Given the description of an element on the screen output the (x, y) to click on. 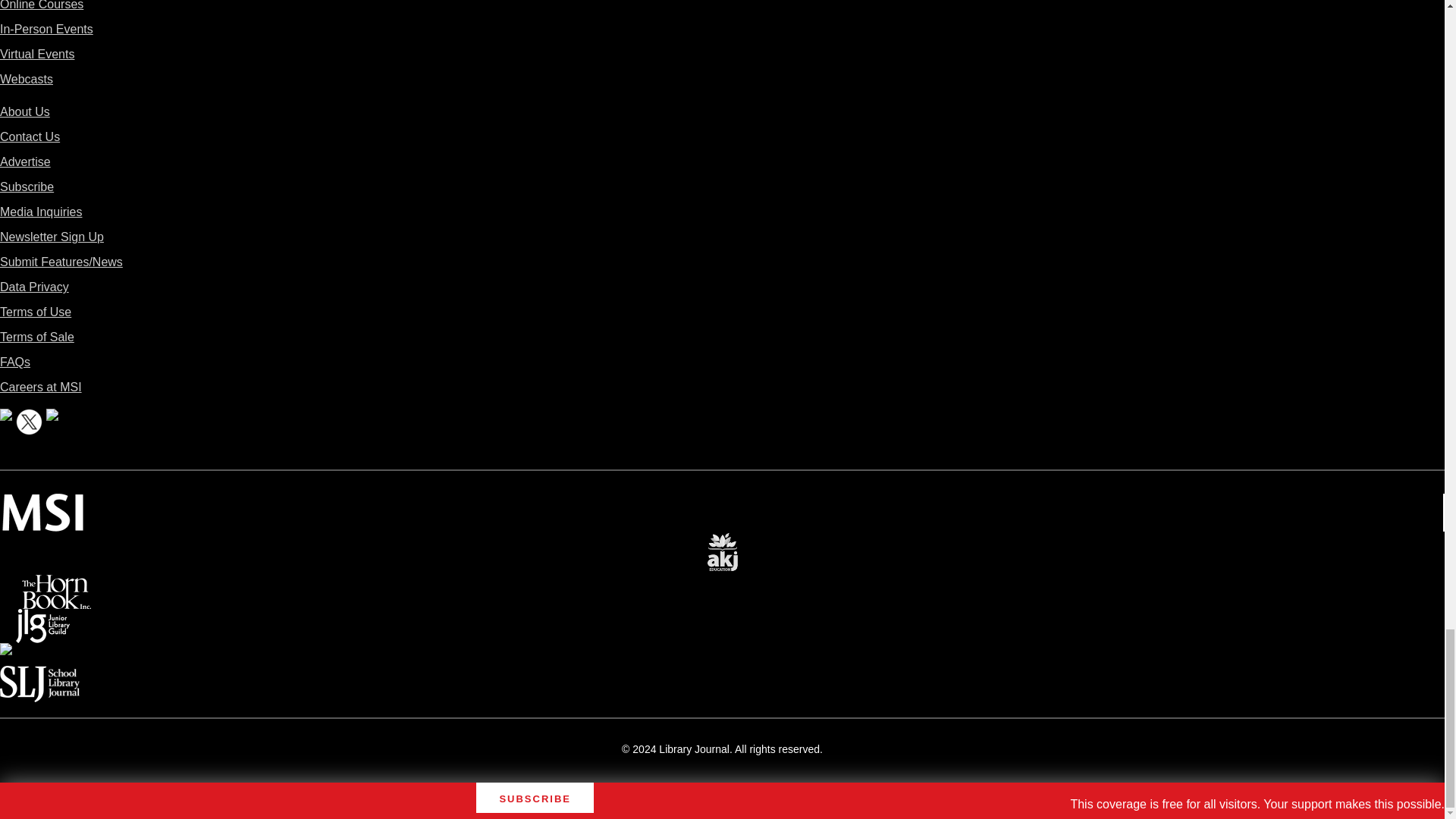
The Horn Book (56, 585)
School Library Journal (40, 676)
Media Source Incorporated (42, 503)
AKJ (722, 541)
Junior Library Guild (42, 619)
